Given the description of an element on the screen output the (x, y) to click on. 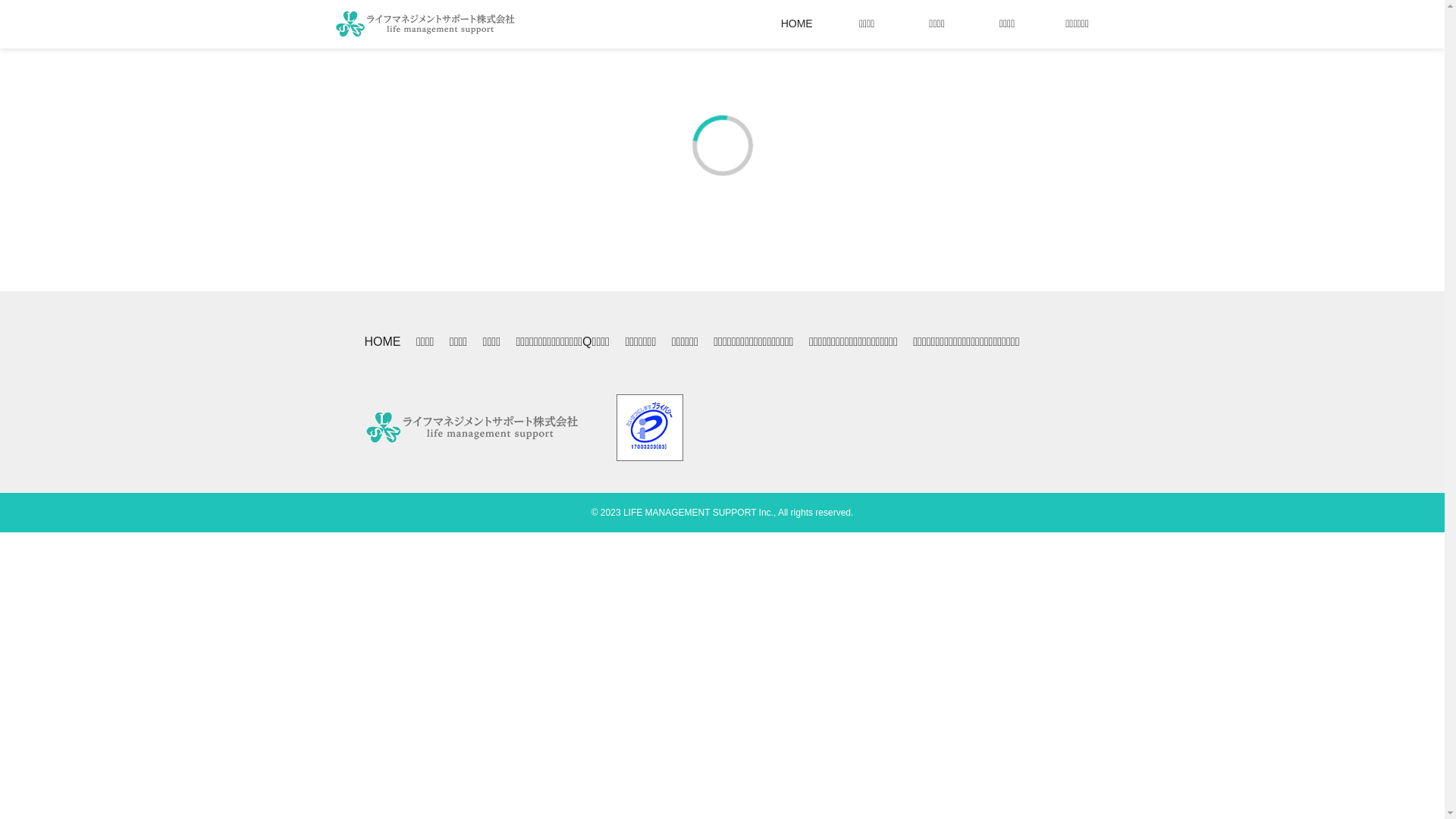
HOME Element type: text (381, 341)
HOME Element type: text (796, 23)
